Given the description of an element on the screen output the (x, y) to click on. 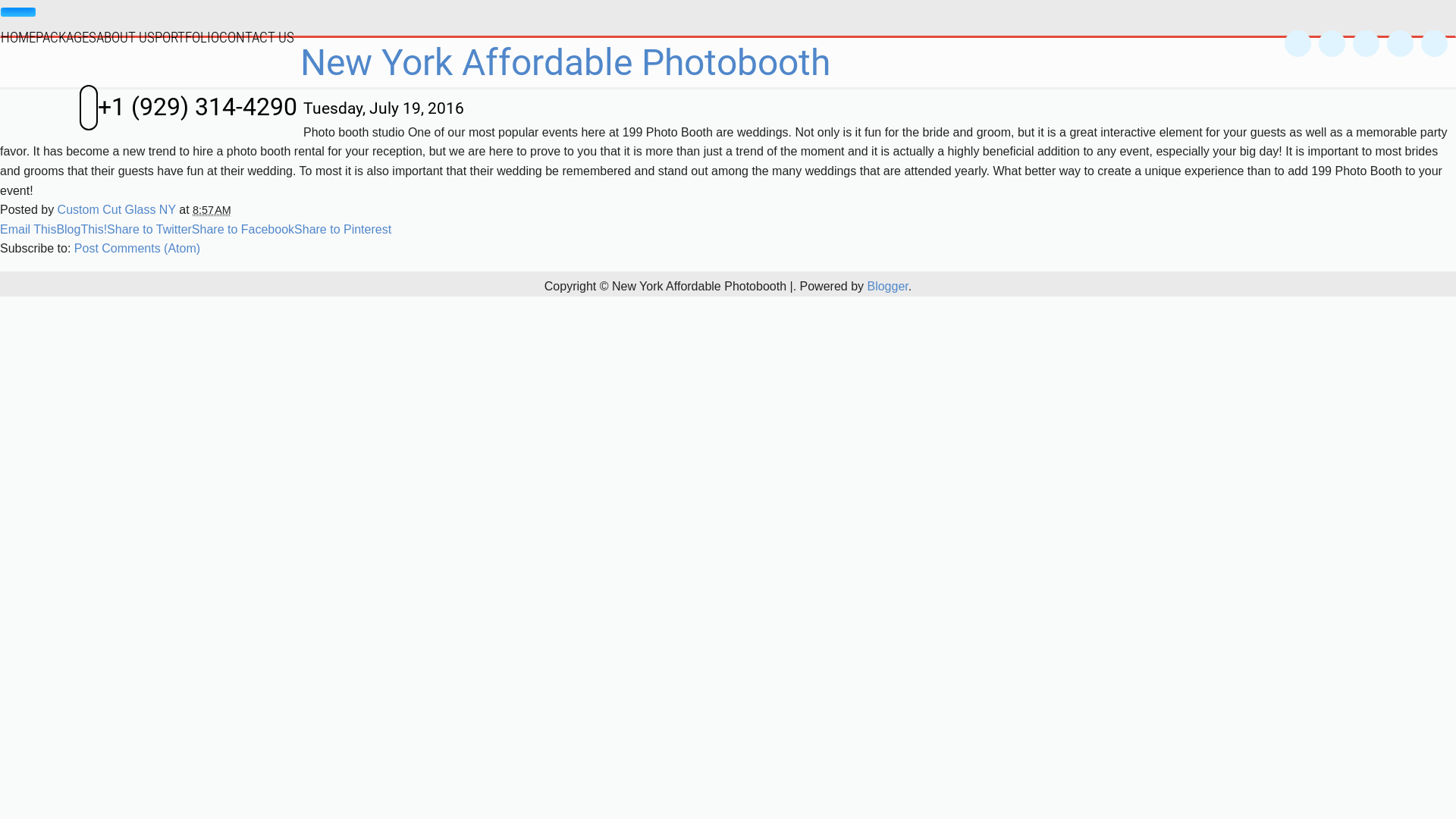
Blogger Element type: text (886, 285)
Share to Twitter Element type: text (148, 228)
PACKAGES Element type: text (65, 36)
HOME Element type: text (17, 36)
Share to Facebook Element type: text (242, 228)
Post Comments (Atom) Element type: text (137, 247)
PORTFOLIO Element type: text (186, 36)
CONTACT US Element type: text (256, 36)
+1 (929) 314-4290 Element type: text (188, 107)
New York Affordable Photobooth Element type: text (565, 62)
ABOUT US Element type: text (125, 36)
BlogThis! Element type: text (81, 228)
Share to Pinterest Element type: text (342, 228)
Email This Element type: text (28, 228)
Custom Cut Glass NY Element type: text (118, 209)
